Given the description of an element on the screen output the (x, y) to click on. 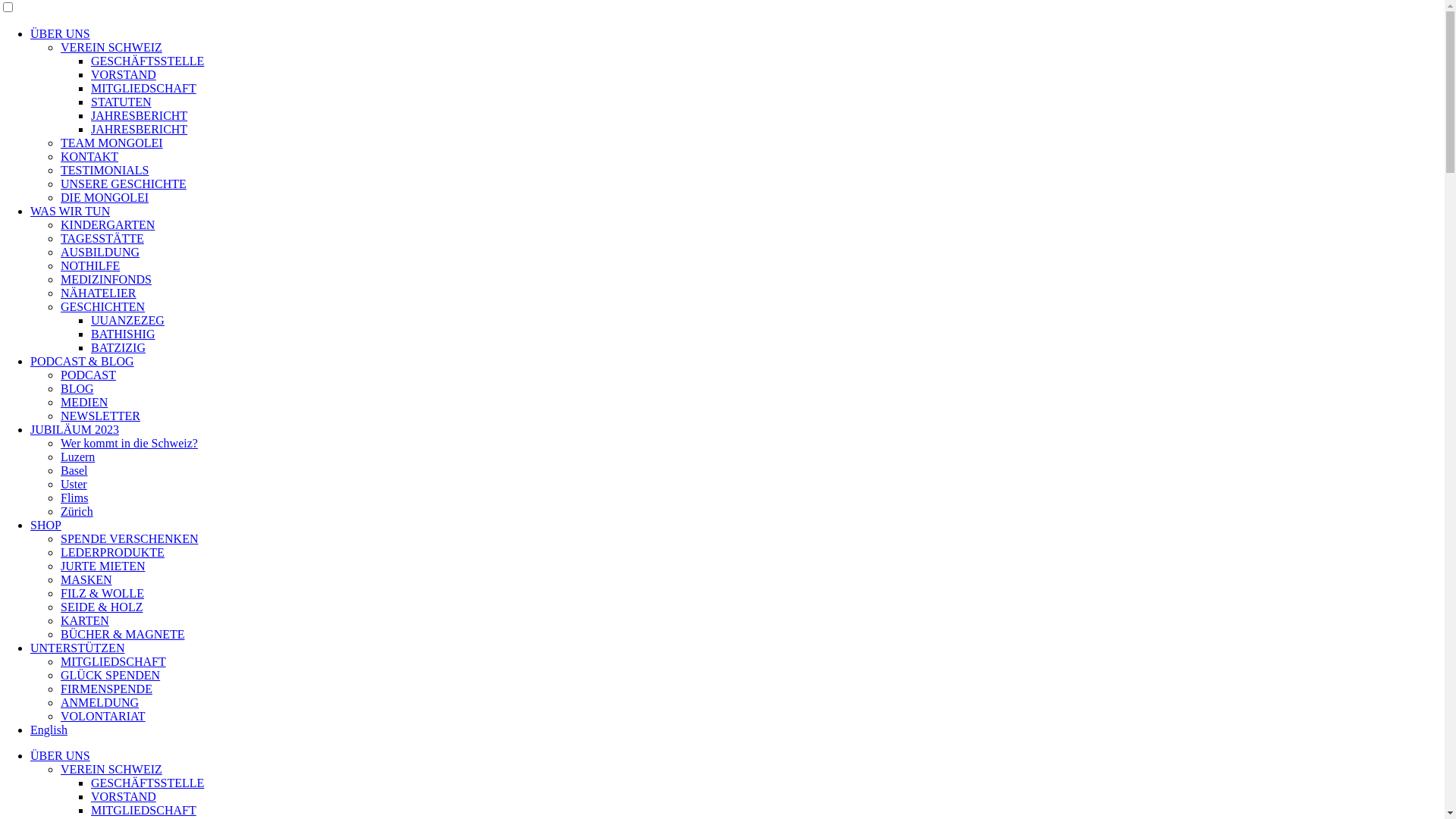
JAHRESBERICHT Element type: text (139, 115)
MITGLIEDSCHAFT Element type: text (113, 661)
MEDIEN Element type: text (83, 401)
JURTE MIETEN Element type: text (102, 565)
TEAM MONGOLEI Element type: text (111, 142)
JAHRESBERICHT Element type: text (139, 128)
DIE MONGOLEI Element type: text (104, 197)
UNSERE GESCHICHTE Element type: text (123, 183)
VOLONTARIAT Element type: text (102, 715)
VORSTAND Element type: text (123, 796)
English Element type: text (48, 729)
UUANZEZEG Element type: text (127, 319)
MASKEN Element type: text (86, 579)
FIRMENSPENDE Element type: text (106, 688)
PODCAST Element type: text (88, 374)
Basel Element type: text (73, 470)
MITGLIEDSCHAFT Element type: text (143, 87)
KINDERGARTEN Element type: text (107, 224)
LEDERPRODUKTE Element type: text (112, 552)
WAS WIR TUN Element type: text (69, 210)
GESCHICHTEN Element type: text (102, 306)
STATUTEN Element type: text (121, 101)
MEDIZINFONDS Element type: text (105, 279)
BATHISHIG Element type: text (122, 333)
BLOG Element type: text (77, 388)
Wer kommt in die Schweiz? Element type: text (128, 442)
VEREIN SCHWEIZ Element type: text (111, 46)
MITGLIEDSCHAFT Element type: text (143, 809)
PODCAST & BLOG Element type: text (82, 360)
TESTIMONIALS Element type: text (104, 169)
AUSBILDUNG Element type: text (99, 251)
BATZIZIG Element type: text (118, 347)
Luzern Element type: text (77, 456)
FILZ & WOLLE Element type: text (102, 592)
ANMELDUNG Element type: text (99, 702)
SPENDE VERSCHENKEN Element type: text (129, 538)
Flims Element type: text (73, 497)
NEWSLETTER Element type: text (100, 415)
Uster Element type: text (73, 483)
SHOP Element type: text (45, 524)
NOTHILFE Element type: text (89, 265)
KARTEN Element type: text (84, 620)
KONTAKT Element type: text (89, 156)
VORSTAND Element type: text (123, 74)
VEREIN SCHWEIZ Element type: text (111, 768)
SEIDE & HOLZ Element type: text (101, 606)
